Given the description of an element on the screen output the (x, y) to click on. 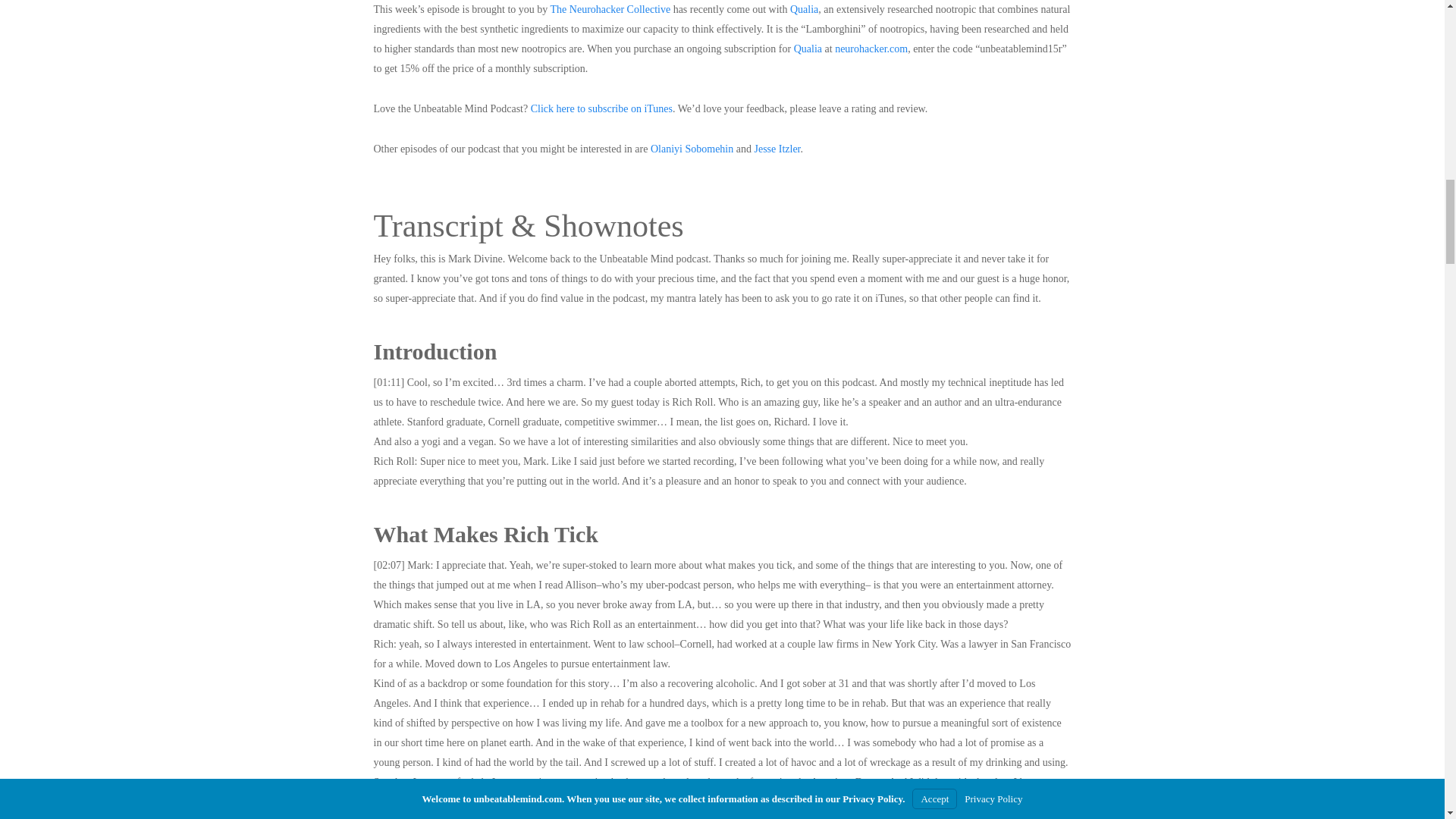
The Neurohacker Collective (611, 9)
